Given the description of an element on the screen output the (x, y) to click on. 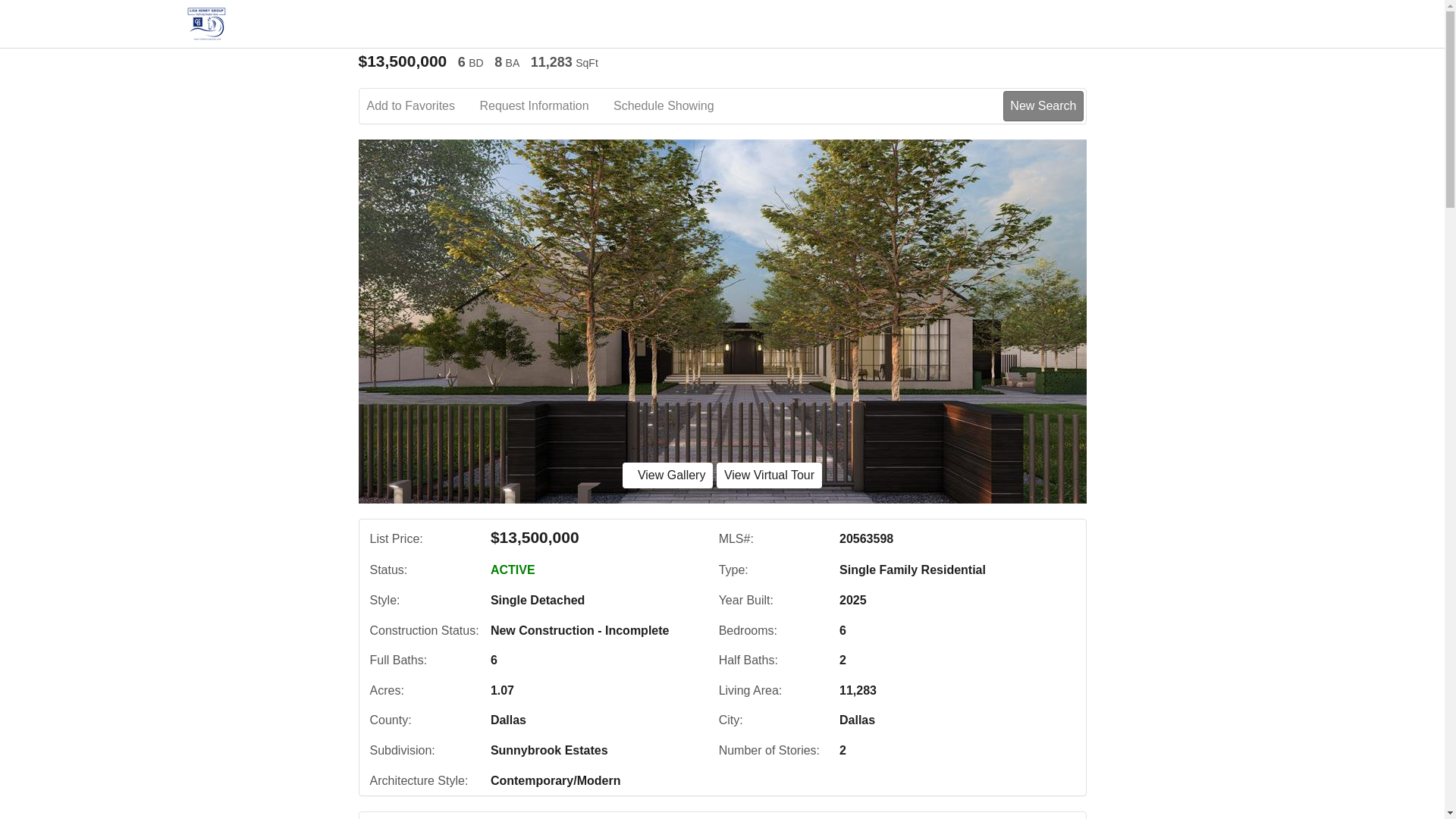
New Search (1043, 105)
Share (636, 818)
New Search (1041, 818)
Schedule Showing (673, 106)
Call Us (481, 818)
Add to Favorites (421, 106)
Request Information (544, 106)
View Gallery (668, 475)
View Virtual Tour (769, 475)
View Gallery (668, 474)
View Virtual Tour (769, 474)
